Given the description of an element on the screen output the (x, y) to click on. 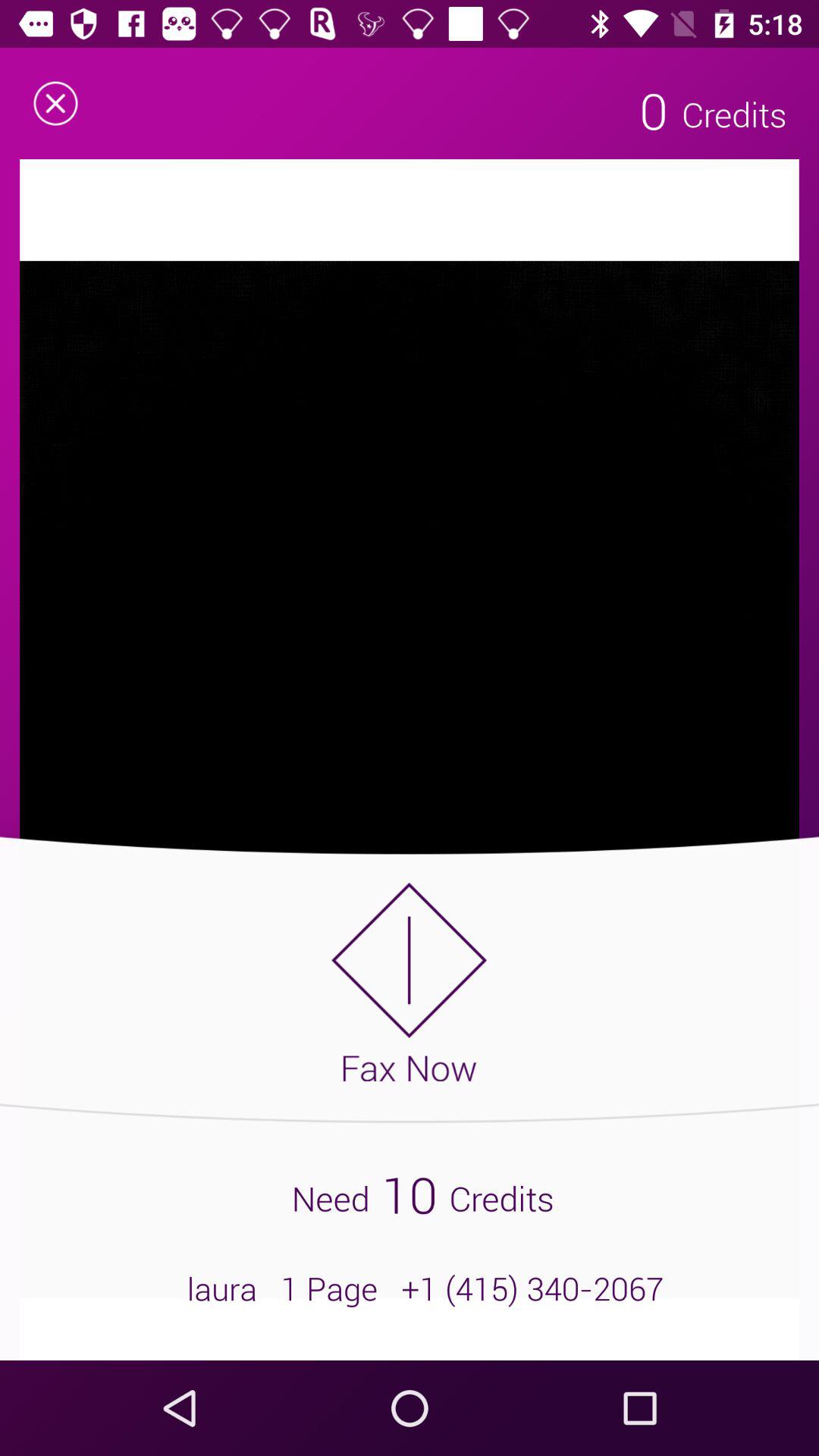
turn off the icon at the top left corner (55, 103)
